Given the description of an element on the screen output the (x, y) to click on. 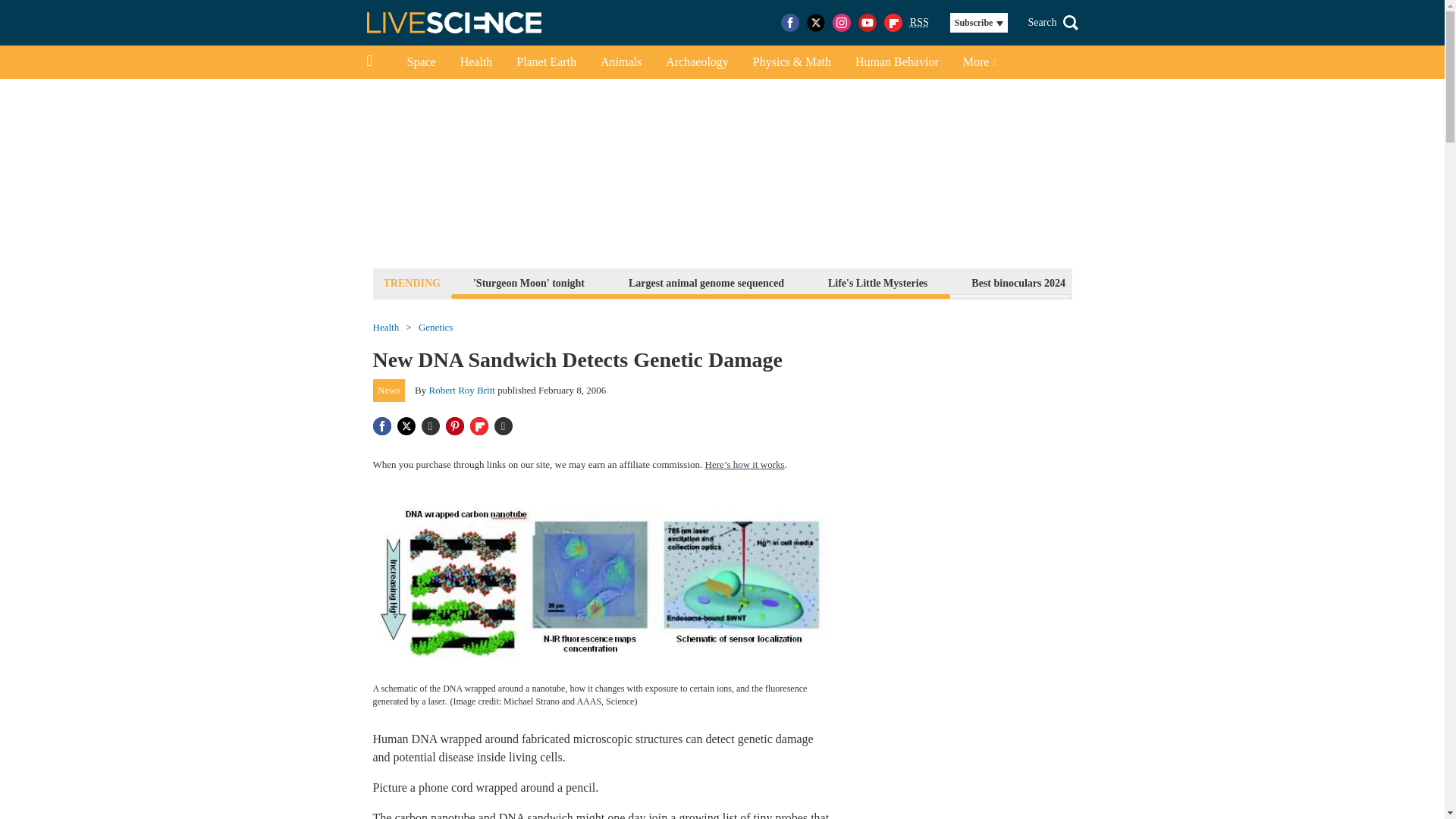
Life's Little Mysteries (877, 282)
Health (476, 61)
Planet Earth (545, 61)
Animals (620, 61)
'Sturgeon Moon' tonight (528, 282)
Archaeology (697, 61)
Human Behavior (896, 61)
Largest animal genome sequenced (706, 282)
Really Simple Syndication (919, 21)
Robert Roy Britt (462, 389)
